Given the description of an element on the screen output the (x, y) to click on. 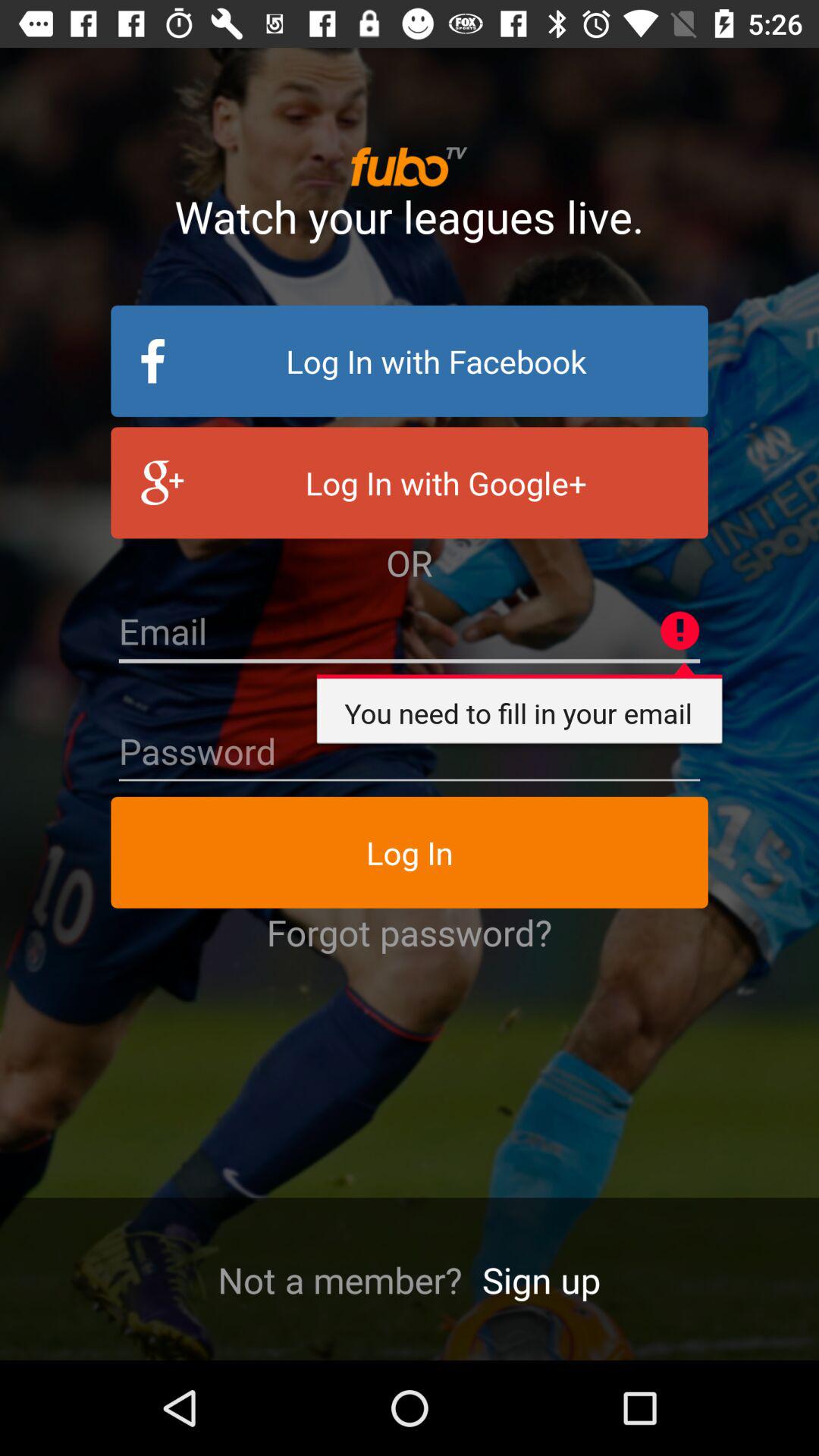
insert email (409, 631)
